Given the description of an element on the screen output the (x, y) to click on. 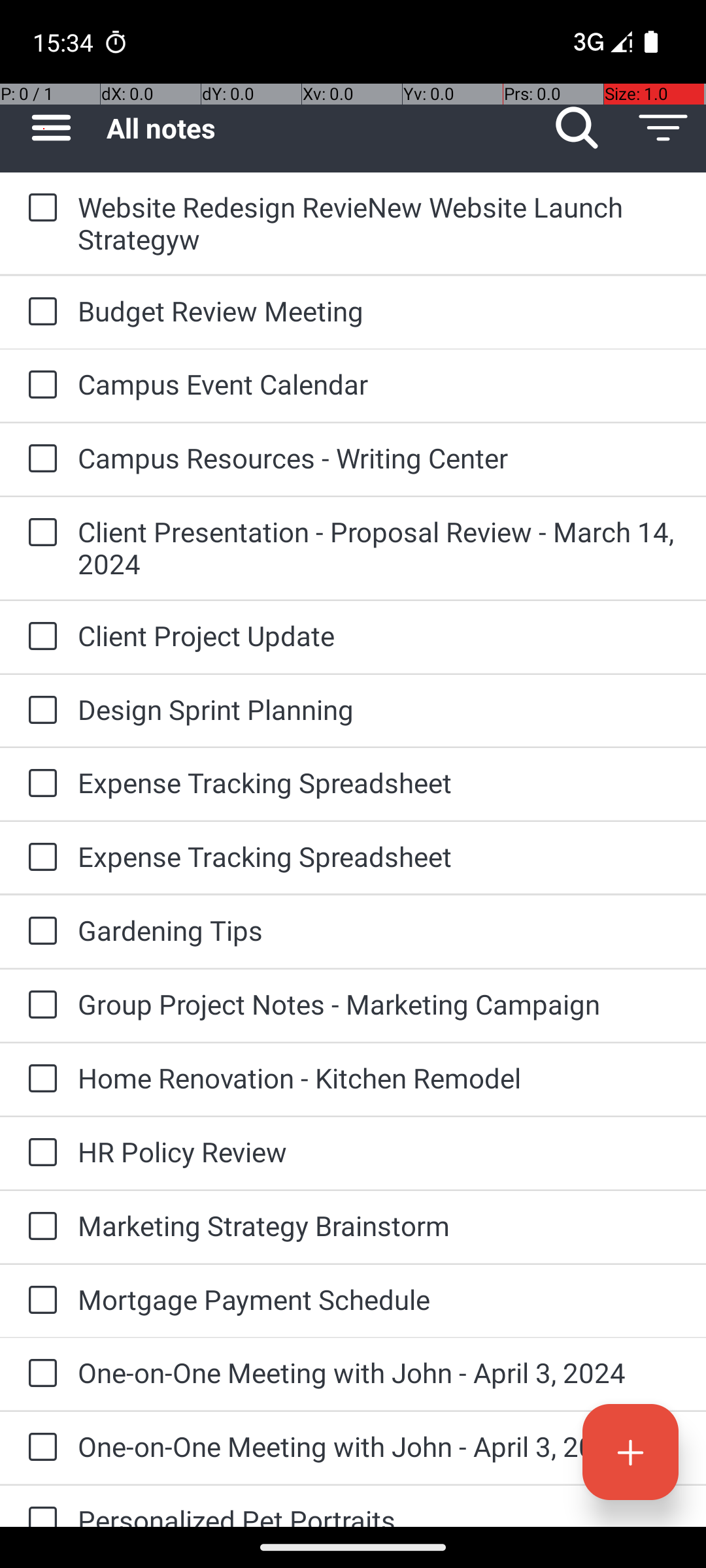
to-do: Website Redesign RevieNew Website Launch Strategyw Element type: android.widget.CheckBox (38, 208)
Website Redesign RevieNew Website Launch Strategyw Element type: android.widget.TextView (378, 222)
to-do: Client Presentation - Proposal Review - March 14, 2024 Element type: android.widget.CheckBox (38, 533)
Client Presentation - Proposal Review - March 14, 2024 Element type: android.widget.TextView (378, 547)
to-do: Home Renovation - Kitchen Remodel Element type: android.widget.CheckBox (38, 1079)
Home Renovation - Kitchen Remodel Element type: android.widget.TextView (378, 1077)
to-do: Personalized Pet Portraits Element type: android.widget.CheckBox (38, 1505)
